Given the description of an element on the screen output the (x, y) to click on. 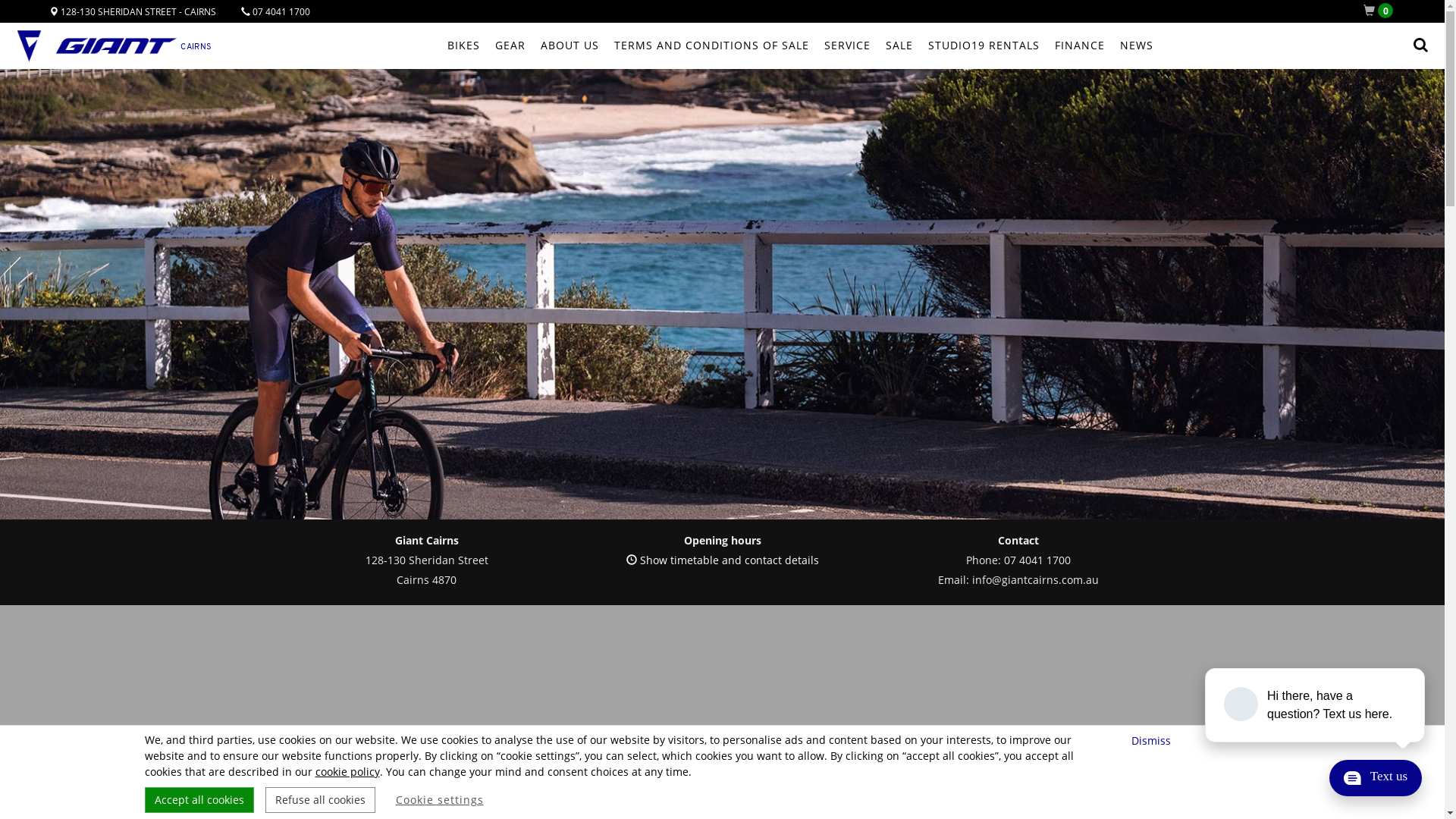
Accept all cookies Element type: text (198, 799)
Dismiss Element type: text (1152, 740)
0 Element type: text (1381, 10)
SALE Element type: text (899, 45)
NEWS Element type: text (1135, 45)
Cookie settings Element type: text (439, 799)
GEAR Element type: text (509, 45)
SERVICE Element type: text (846, 45)
TERMS AND CONDITIONS OF SALE Element type: text (711, 45)
cookie policy Element type: text (347, 771)
podium webchat widget prompt Element type: hover (1315, 705)
Refuse all cookies Element type: text (320, 799)
Show timetable and contact details Element type: text (722, 559)
STUDIO19 RENTALS Element type: text (983, 45)
FINANCE Element type: text (1079, 45)
ABOUT US Element type: text (568, 45)
BIKES Element type: text (463, 45)
